Given the description of an element on the screen output the (x, y) to click on. 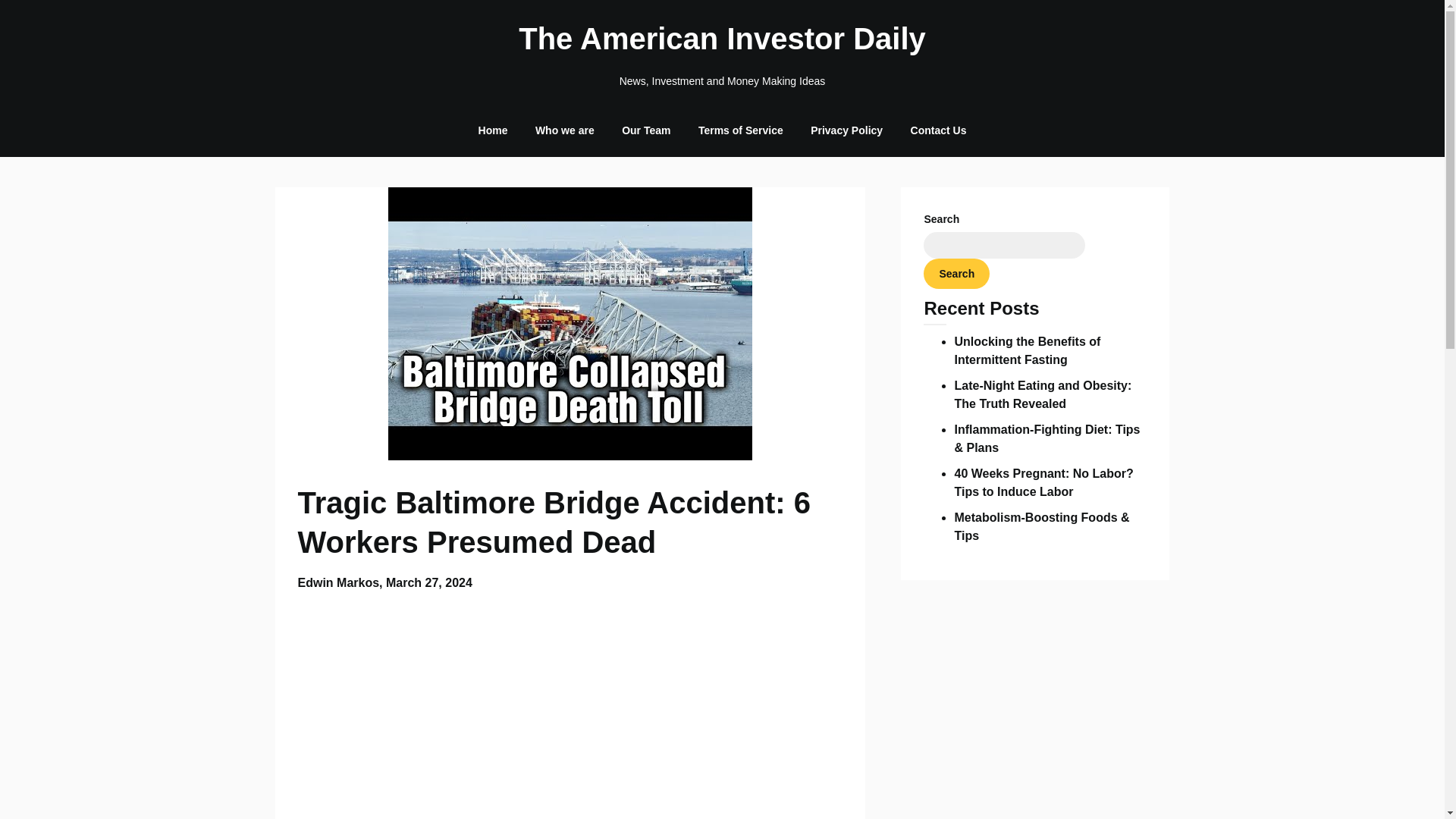
Our Team (646, 130)
Privacy Policy (846, 130)
Search (956, 273)
Terms of Service (739, 130)
Who we are (564, 130)
Home (492, 130)
Late-Night Eating and Obesity: The Truth Revealed (1042, 394)
The American Investor Daily (722, 38)
40 Weeks Pregnant: No Labor? Tips to Induce Labor (1042, 481)
Contact Us (938, 130)
March 27, 2024 (428, 582)
Unlocking the Benefits of Intermittent Fasting (1026, 350)
